Given the description of an element on the screen output the (x, y) to click on. 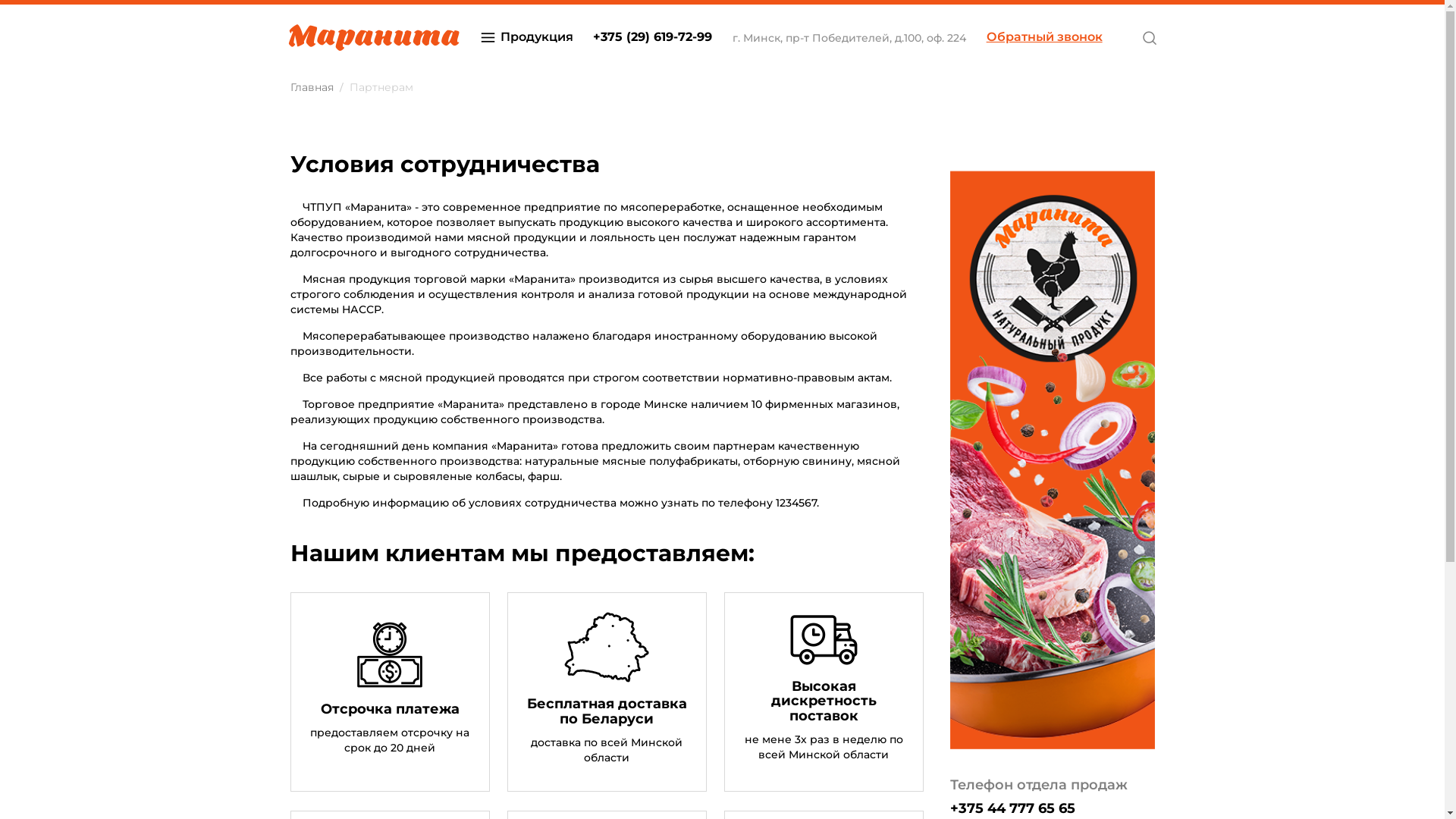
+375 44 777 65 65 Element type: text (1011, 808)
+375 (29) 619-72-99 Element type: text (652, 37)
